Given the description of an element on the screen output the (x, y) to click on. 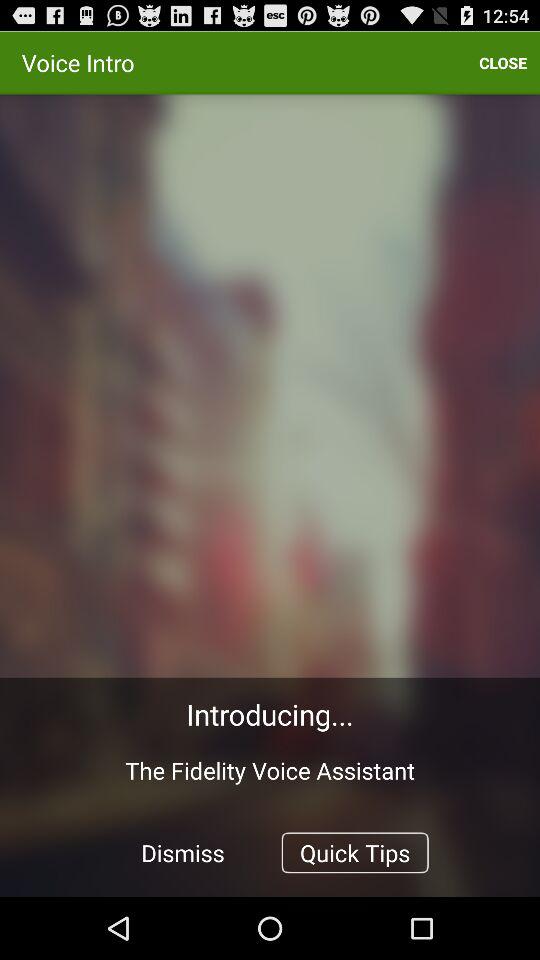
turn on close (503, 62)
